Given the description of an element on the screen output the (x, y) to click on. 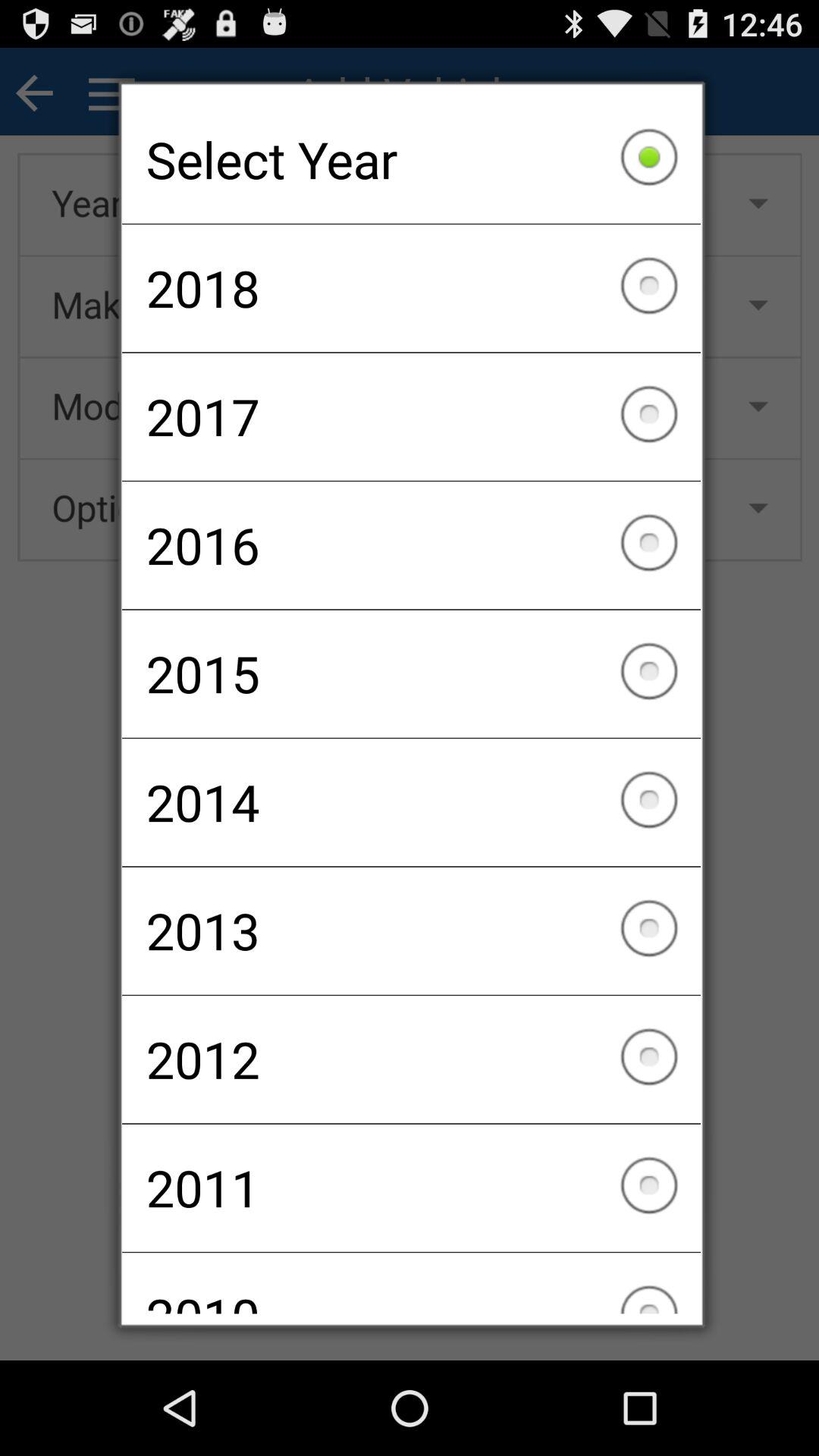
choose icon above the 2015 item (411, 545)
